Given the description of an element on the screen output the (x, y) to click on. 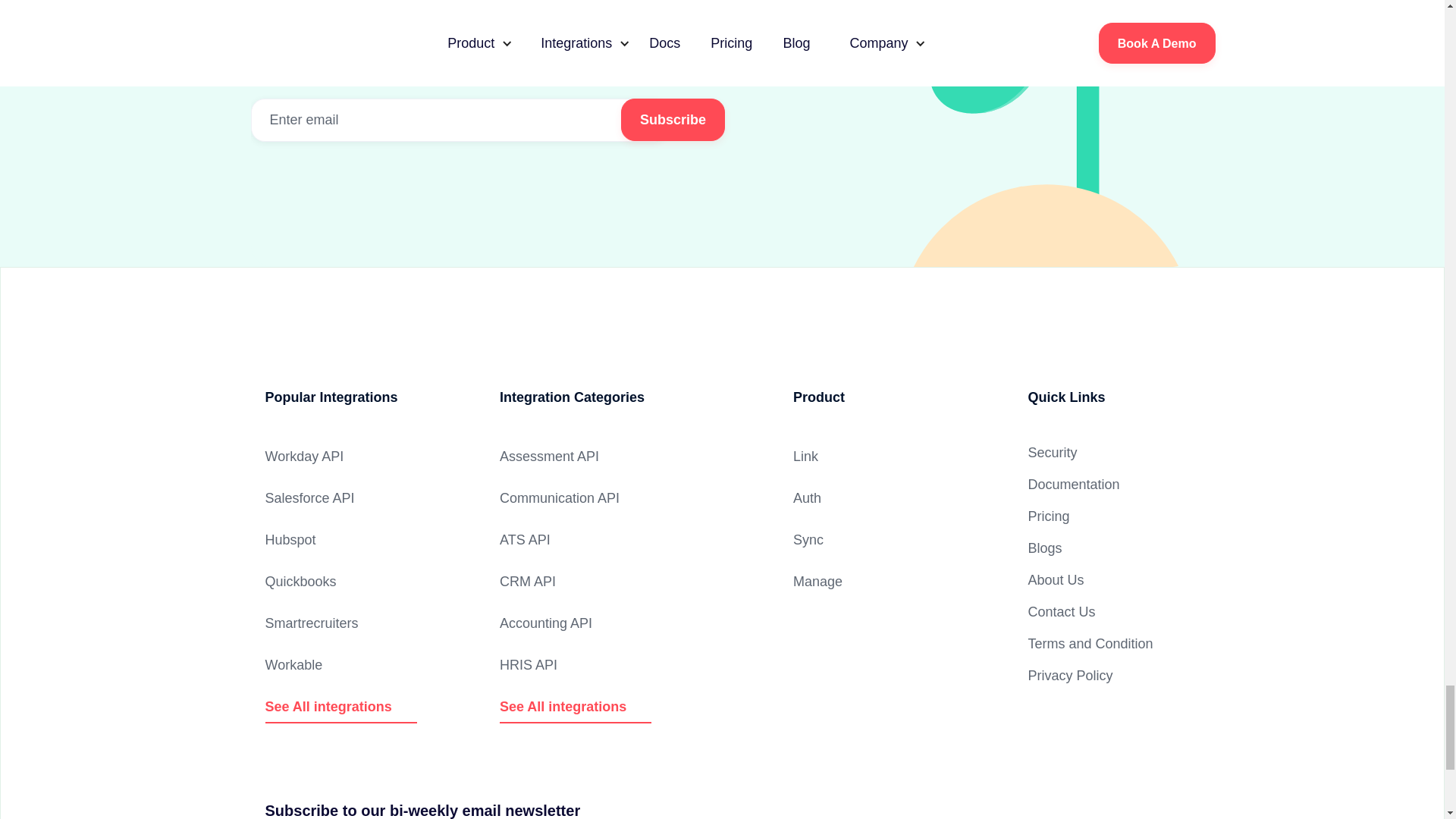
Subscribe (673, 119)
